Given the description of an element on the screen output the (x, y) to click on. 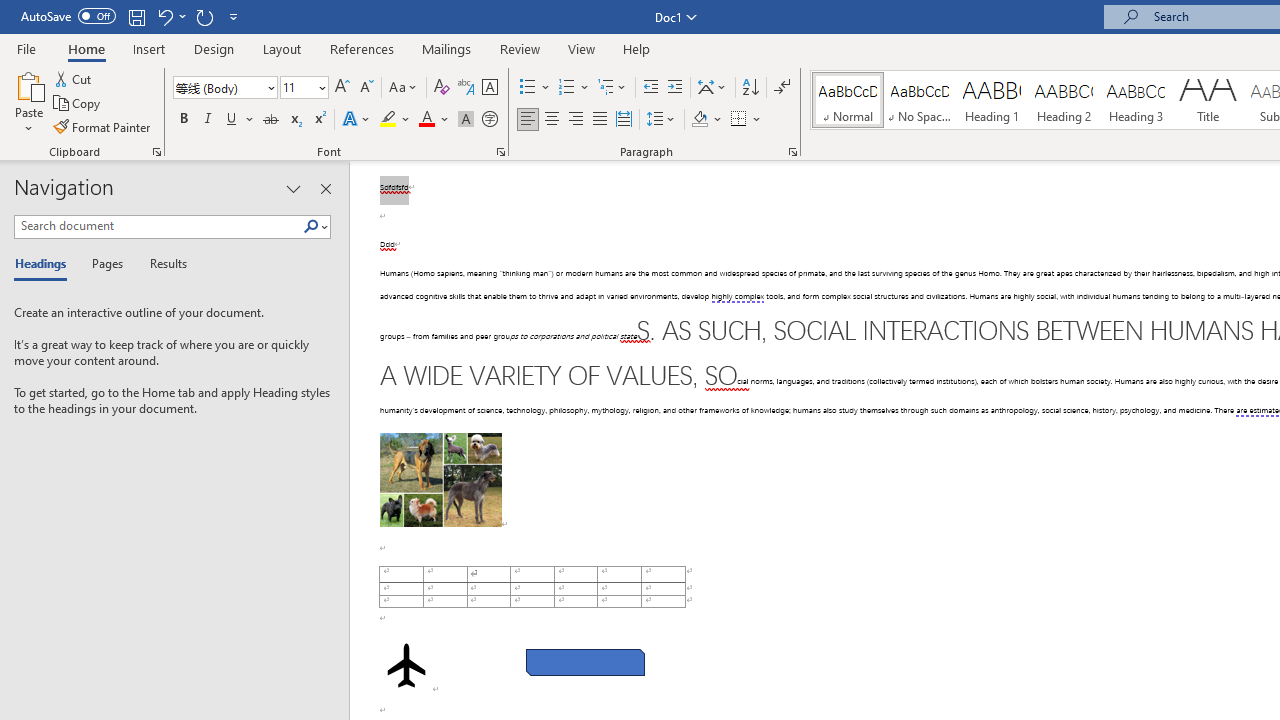
Results (161, 264)
Borders (739, 119)
Customize Quick Access Toolbar (234, 15)
Font Size (304, 87)
Title (1208, 100)
View (582, 48)
Pages (105, 264)
Mailings (447, 48)
Superscript (319, 119)
Search (315, 227)
Cut (73, 78)
Decrease Indent (650, 87)
Align Right (575, 119)
Phonetic Guide... (465, 87)
